Given the description of an element on the screen output the (x, y) to click on. 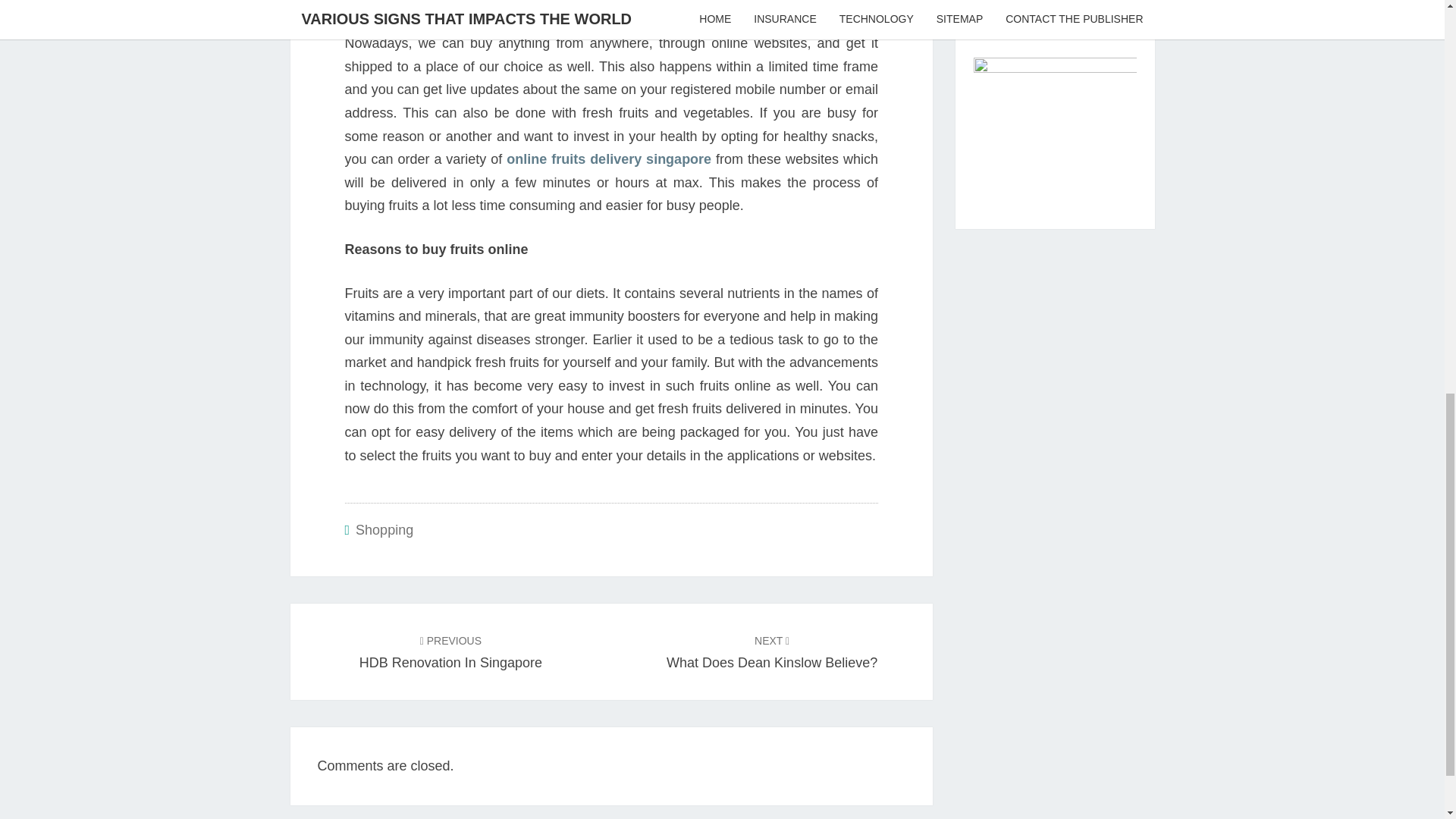
Shopping (450, 651)
online fruits delivery singapore (384, 529)
